Given the description of an element on the screen output the (x, y) to click on. 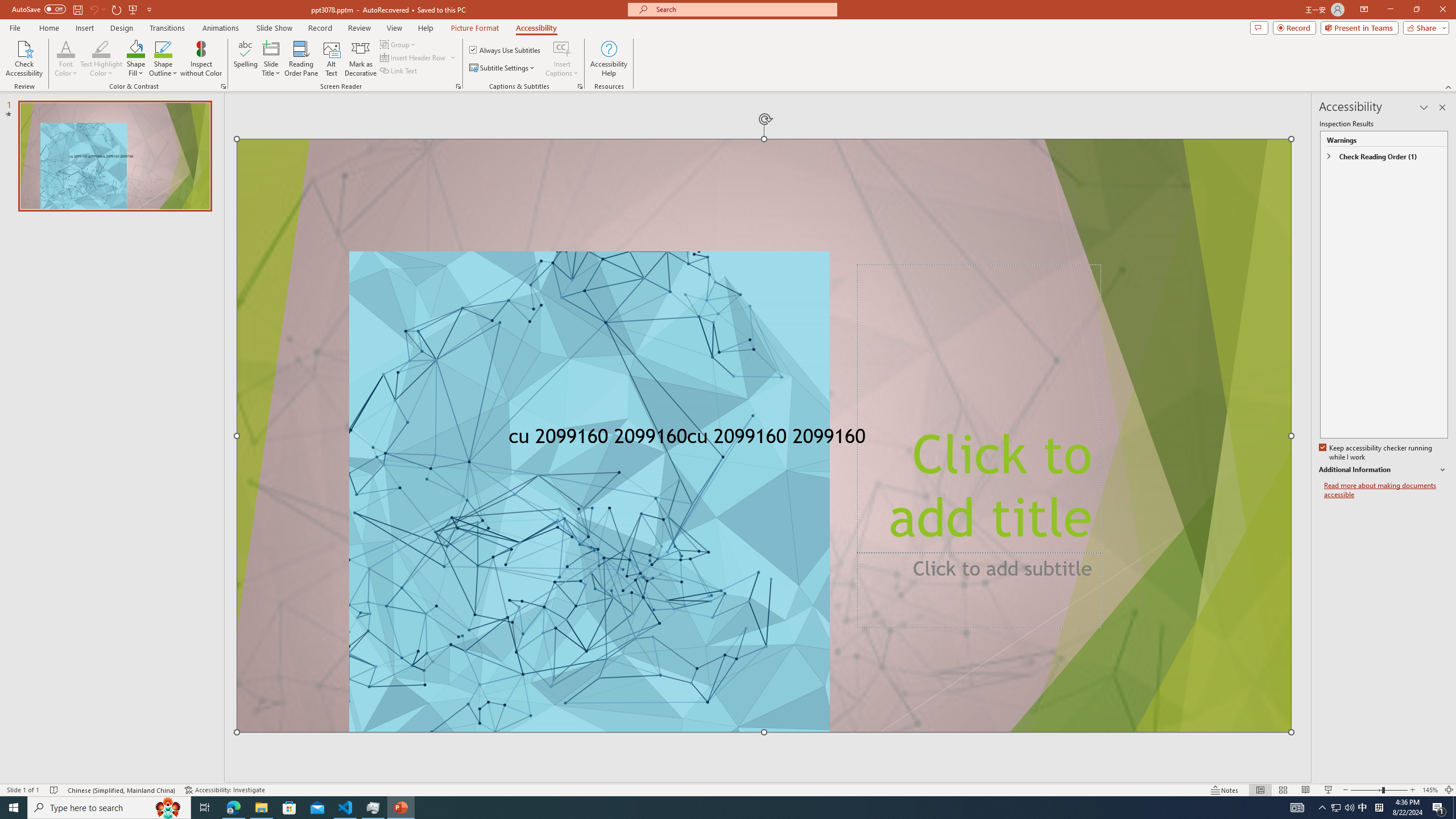
Screen Reader (458, 85)
Shape Fill Dark Green, Accent 2 (135, 48)
Insert Captions (561, 58)
Reading Order Pane (301, 58)
Picture Format (475, 28)
